Given the description of an element on the screen output the (x, y) to click on. 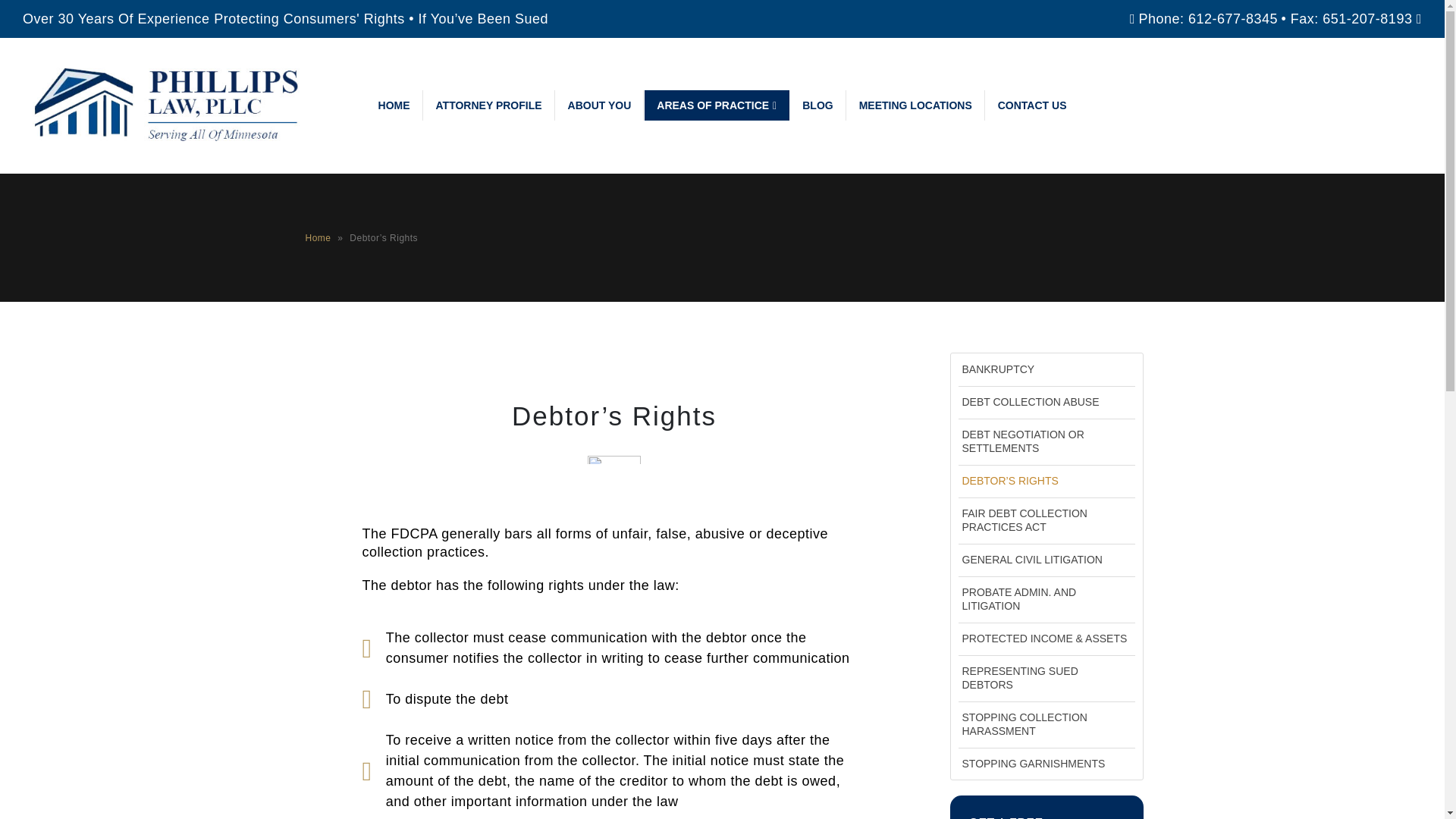
HOME (394, 105)
ATTORNEY PROFILE (488, 105)
AREAS OF PRACTICE (717, 105)
Phone: 612-677-8345 (1208, 17)
CONTACT US (1031, 105)
MEETING LOCATIONS (916, 105)
Phillips Law PLLC -  (174, 105)
ABOUT YOU (600, 105)
BLOG (817, 105)
